Given the description of an element on the screen output the (x, y) to click on. 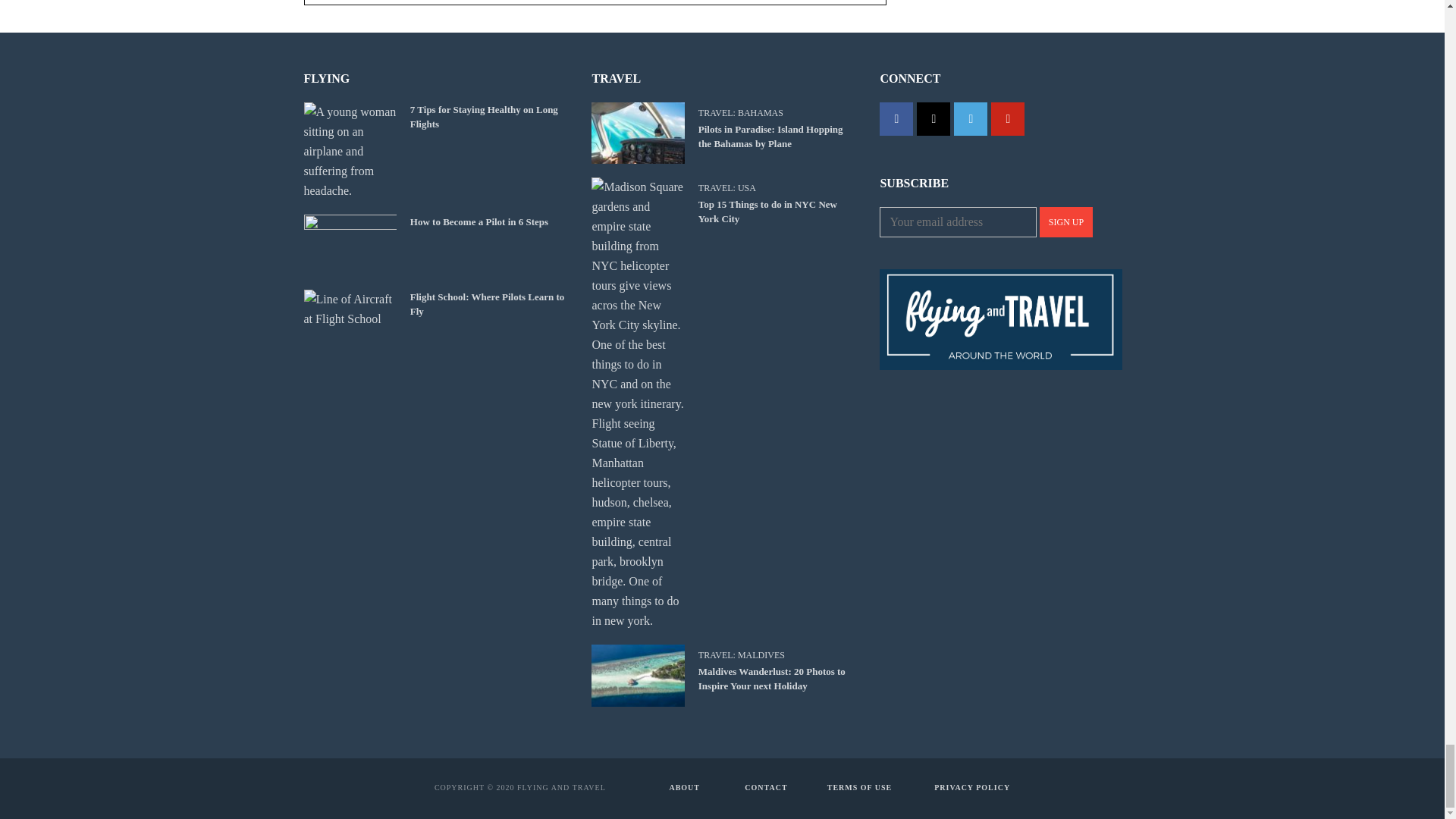
Sign up (1066, 222)
7 Tips for Staying Healthy on Long Flights (349, 151)
How to Become a Pilot in 6 Steps (349, 245)
Flight School: Where Pilots Learn to Fly (349, 309)
Pilots in Paradise: Island Hopping the Bahamas by Plane (637, 132)
